Given the description of an element on the screen output the (x, y) to click on. 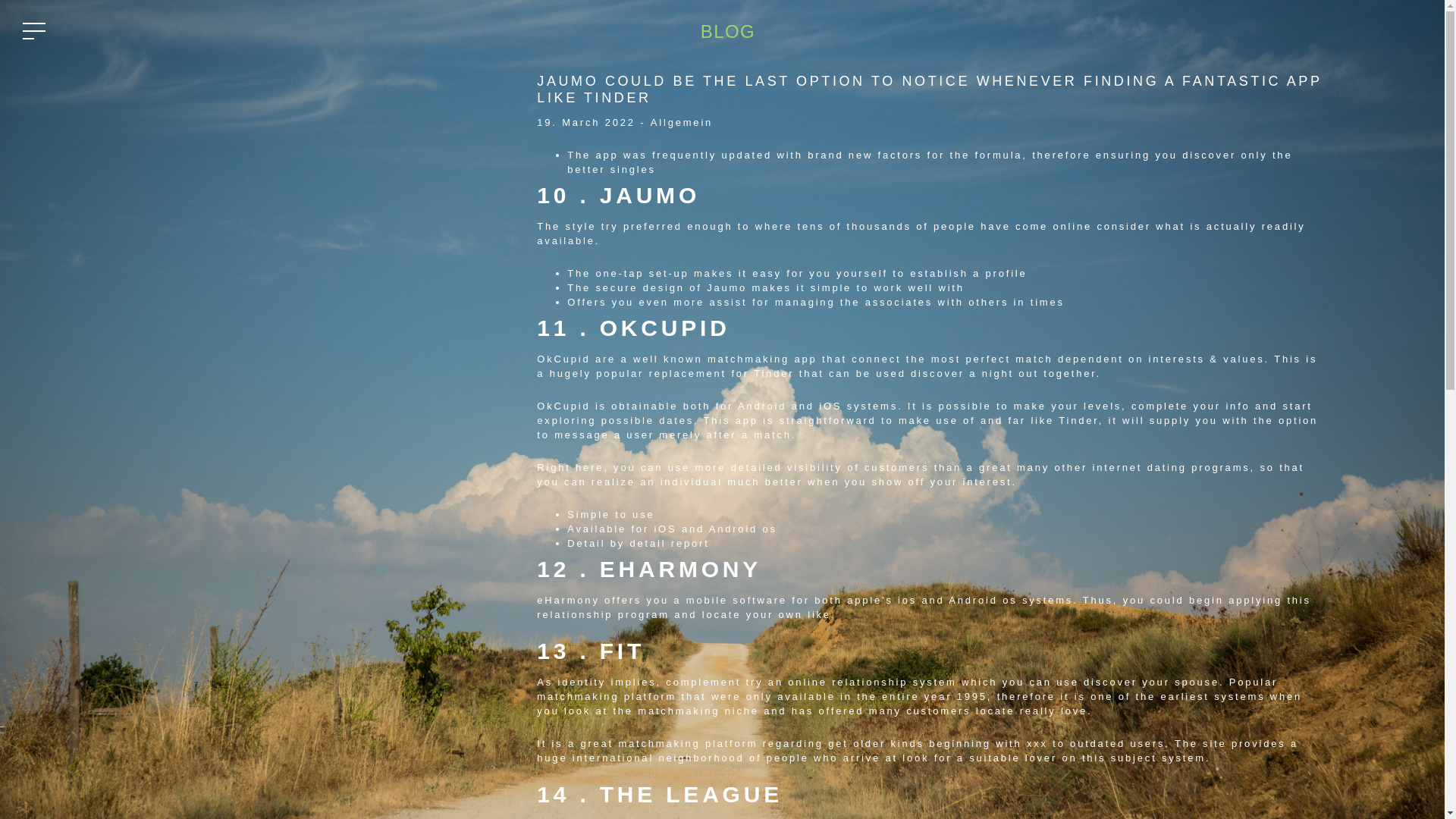
Allgemein (681, 122)
19. March 2022 (585, 122)
